Given the description of an element on the screen output the (x, y) to click on. 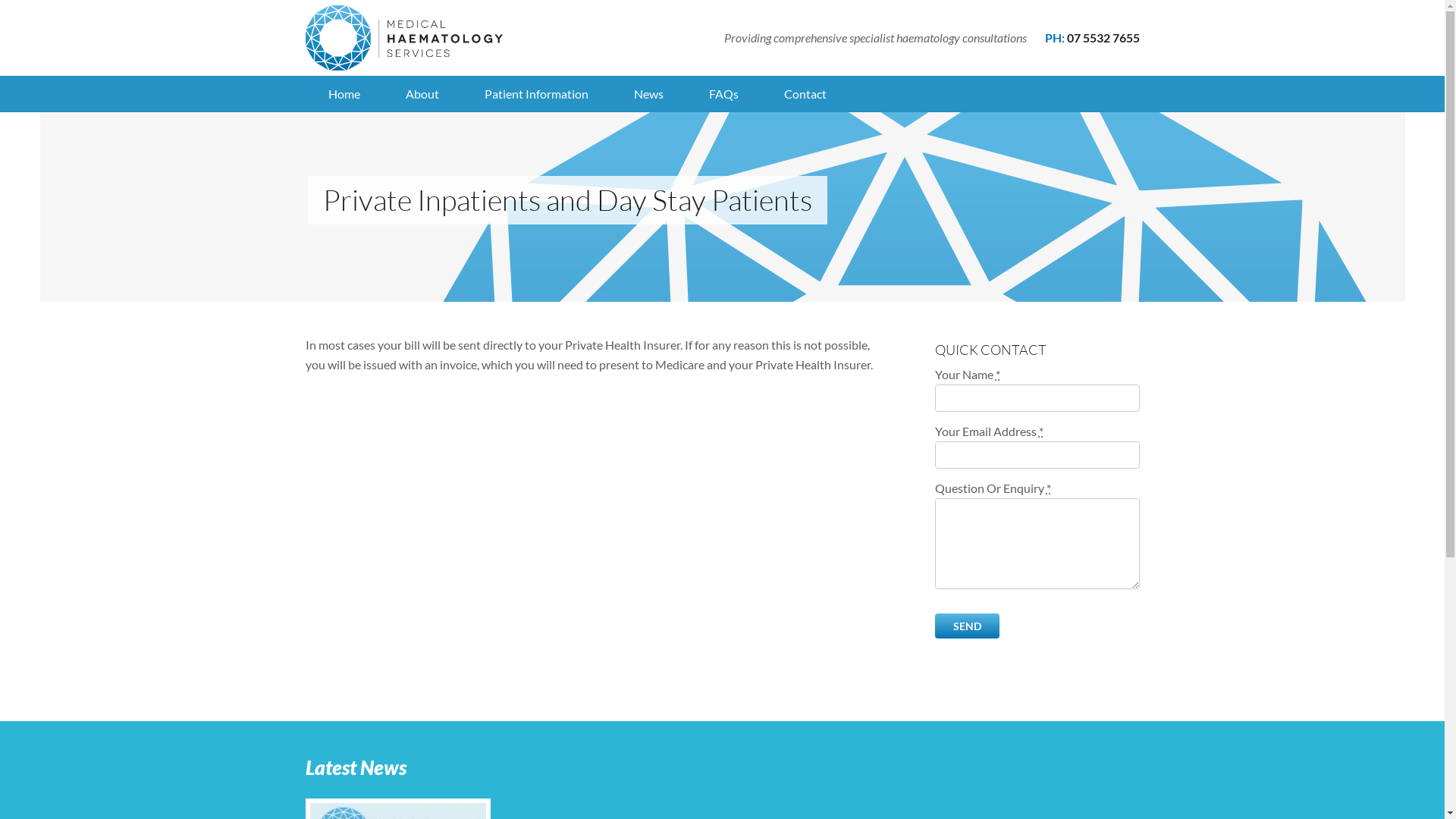
Patient Information Element type: text (535, 93)
FAQs Element type: text (722, 93)
Home Element type: text (343, 93)
SEND Element type: text (966, 625)
Contact Element type: text (805, 93)
About Element type: text (421, 93)
News Element type: text (648, 93)
